Given the description of an element on the screen output the (x, y) to click on. 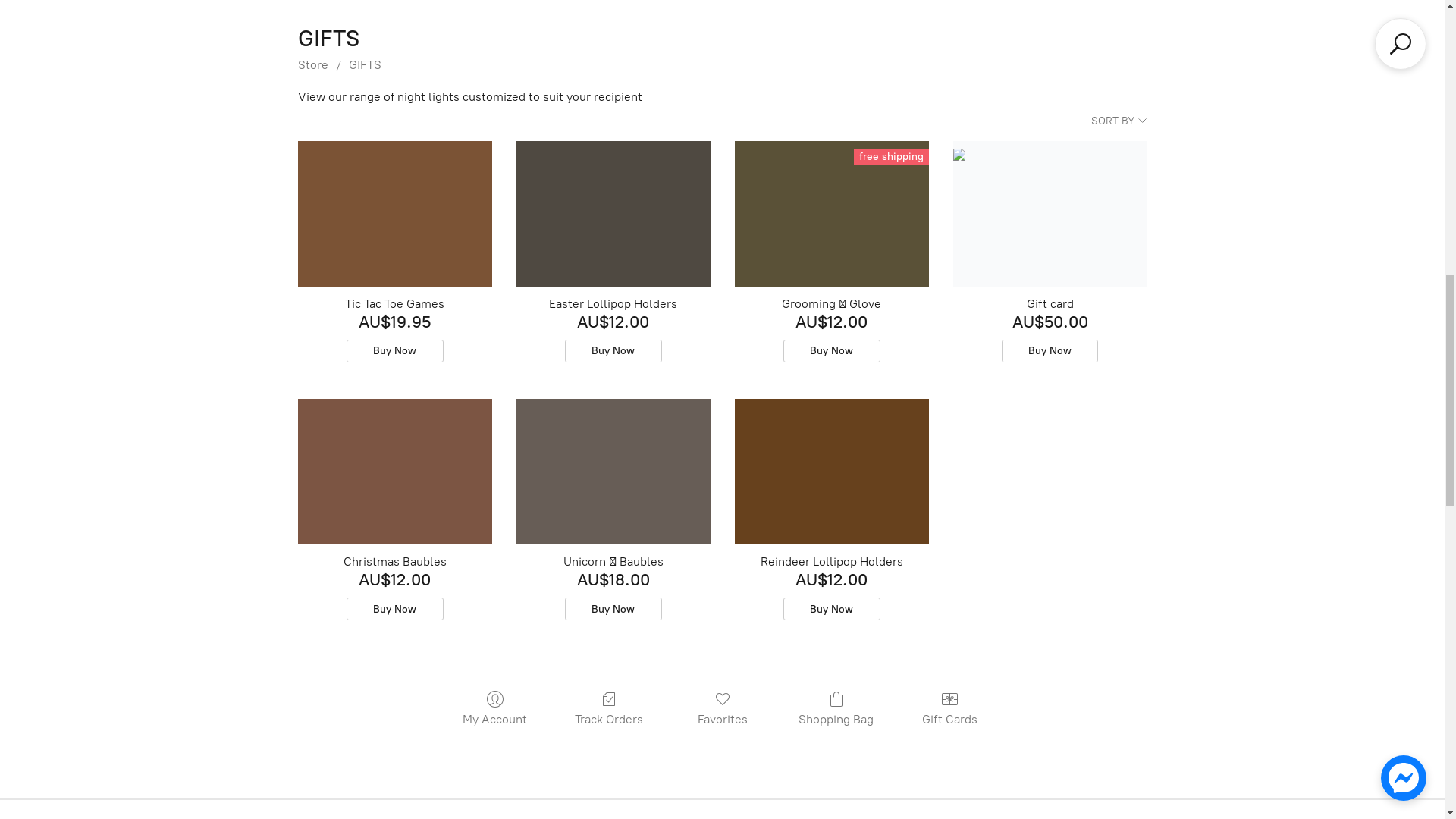
Store Element type: text (46, 29)
Get directions Element type: text (1281, 28)
Shop Now Element type: text (722, 748)
Contact us Element type: text (205, 29)
Location Element type: text (117, 29)
